Given the description of an element on the screen output the (x, y) to click on. 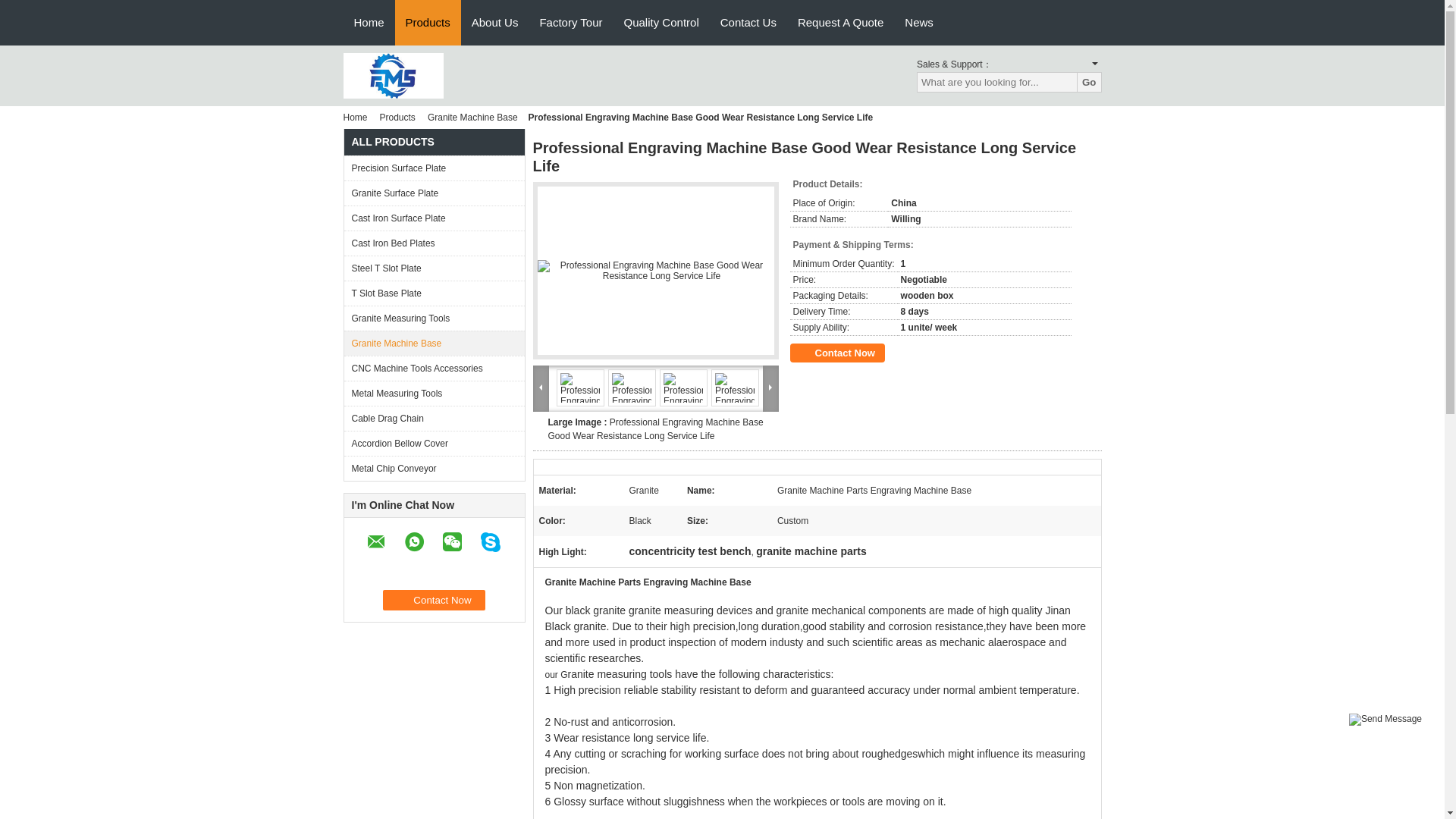
Cast Iron Bed Plates (433, 242)
Go (1089, 82)
Contact Now (433, 599)
Steel T Slot Plate (433, 267)
Granite Surface Plate (433, 192)
T Slot Base Plate (433, 292)
Products (427, 22)
News (918, 22)
Cast Iron Surface Plate (433, 217)
Quality Control (661, 22)
